Given the description of an element on the screen output the (x, y) to click on. 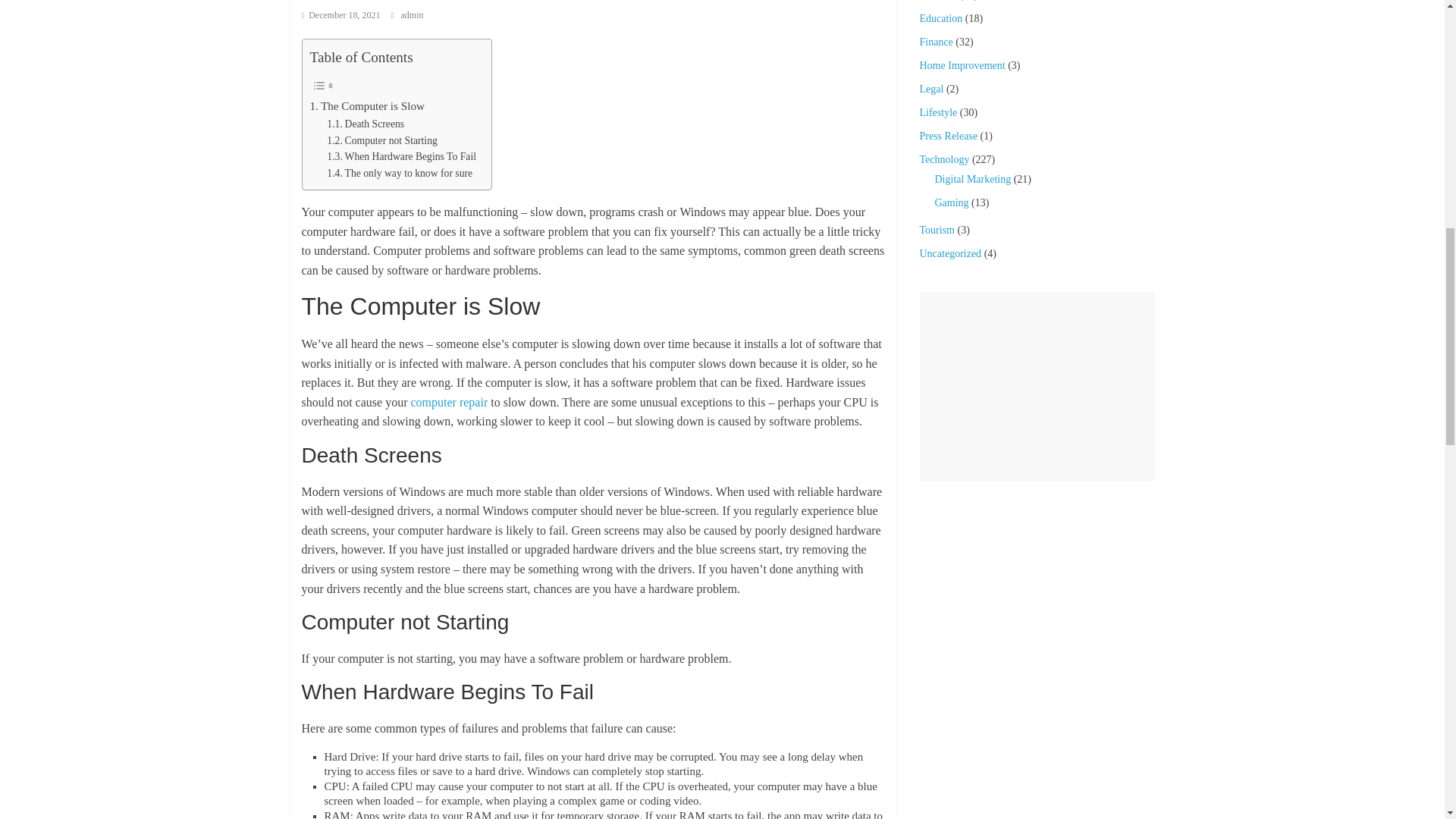
The Computer is Slow (366, 106)
December 18, 2021 (340, 14)
When Hardware Begins To Fail (401, 156)
Computer not Starting (382, 140)
The only way to know for sure (398, 173)
The Computer is Slow (366, 106)
When Hardware Begins To Fail (401, 156)
9:15 am (340, 14)
admin (411, 14)
Computer not Starting (382, 140)
